Given the description of an element on the screen output the (x, y) to click on. 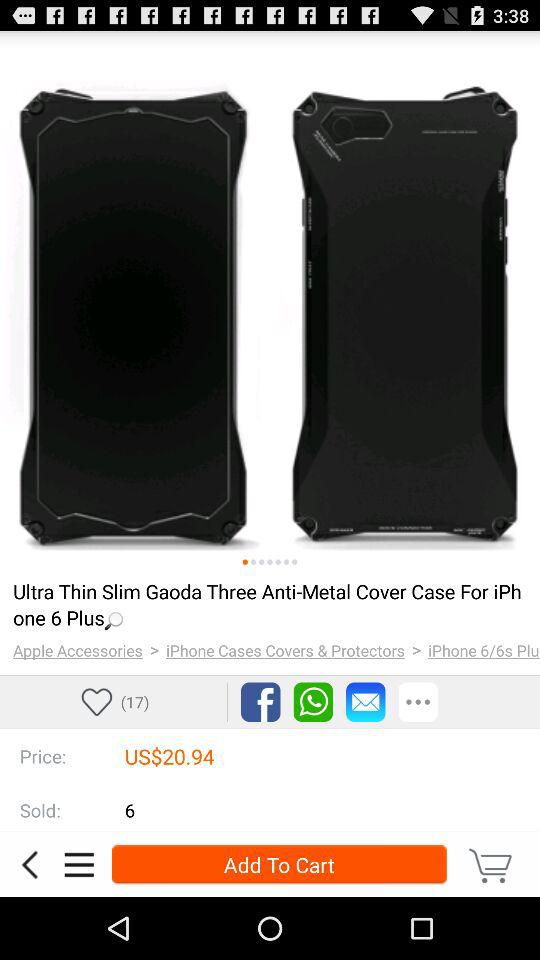
swipe image (253, 561)
